Given the description of an element on the screen output the (x, y) to click on. 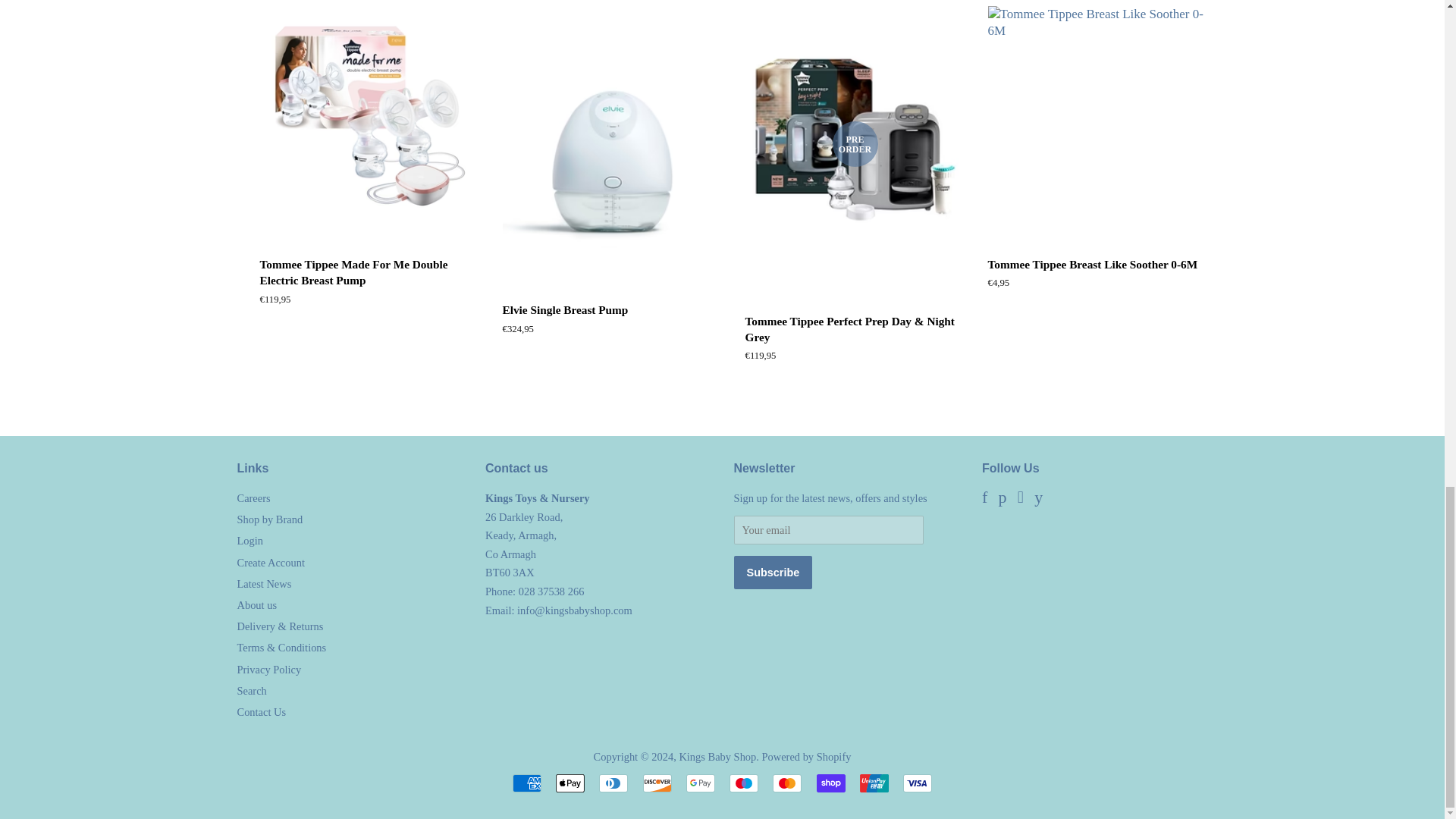
Google Pay (699, 782)
American Express (526, 782)
Shop Pay (830, 782)
Subscribe (772, 572)
Kings Baby Shop on Pinterest (1054, 498)
Discover (657, 782)
Apple Pay (570, 782)
Kings Baby Shop on Facebook (1003, 498)
Diners Club (612, 782)
Maestro (743, 782)
Kings Baby Shop on Instagram (1106, 498)
Union Pay (874, 782)
Mastercard (787, 782)
Visa (916, 782)
Kings Baby Shop on YouTube (1158, 498)
